Given the description of an element on the screen output the (x, y) to click on. 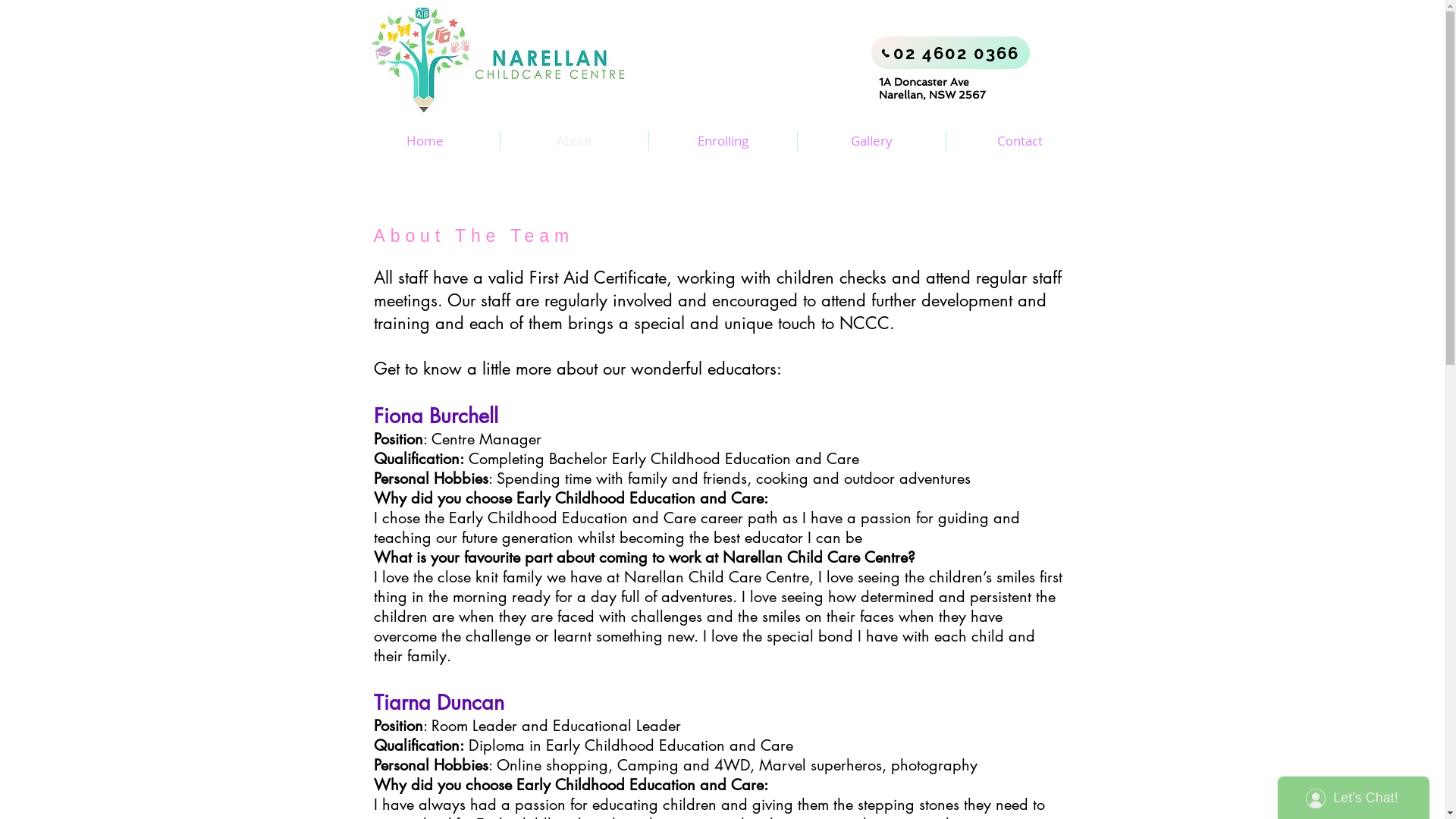
Narellan Logo (Side).jpg Element type: hover (488, 61)
About Element type: text (574, 140)
Home Element type: text (424, 140)
Enrolling Element type: text (723, 140)
Gallery Element type: text (871, 140)
02 4602 0366 Element type: text (950, 52)
Contact Element type: text (1020, 140)
